Given the description of an element on the screen output the (x, y) to click on. 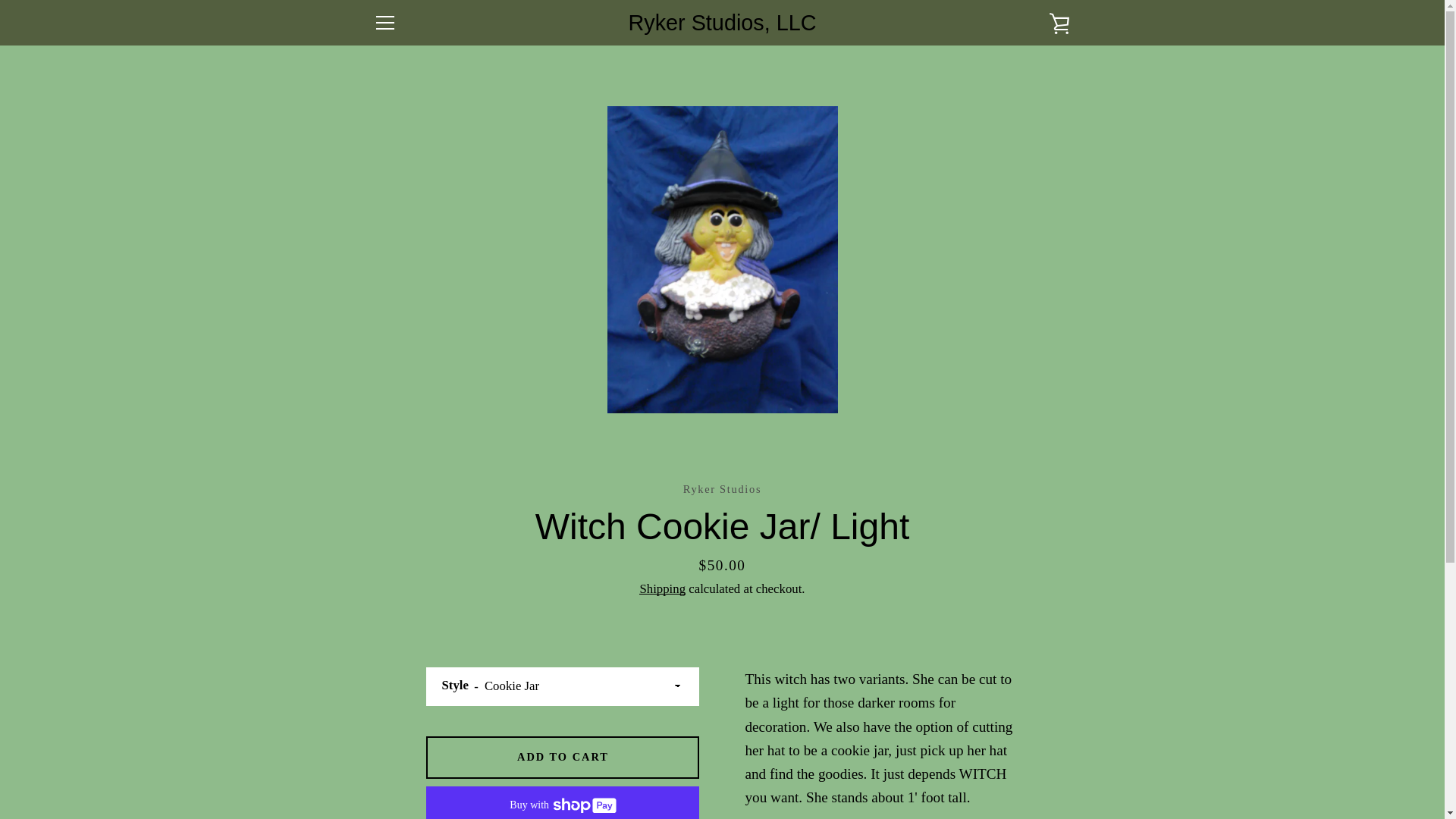
Facebook (372, 764)
PayPal (953, 778)
Powered by Shopify (767, 765)
Apple Pay (918, 754)
HOME PAGE (409, 592)
Shipping (662, 588)
Discover (988, 754)
Mastercard (918, 778)
CONTACT US AND ABOUT US (457, 693)
MENU (384, 22)
